Given the description of an element on the screen output the (x, y) to click on. 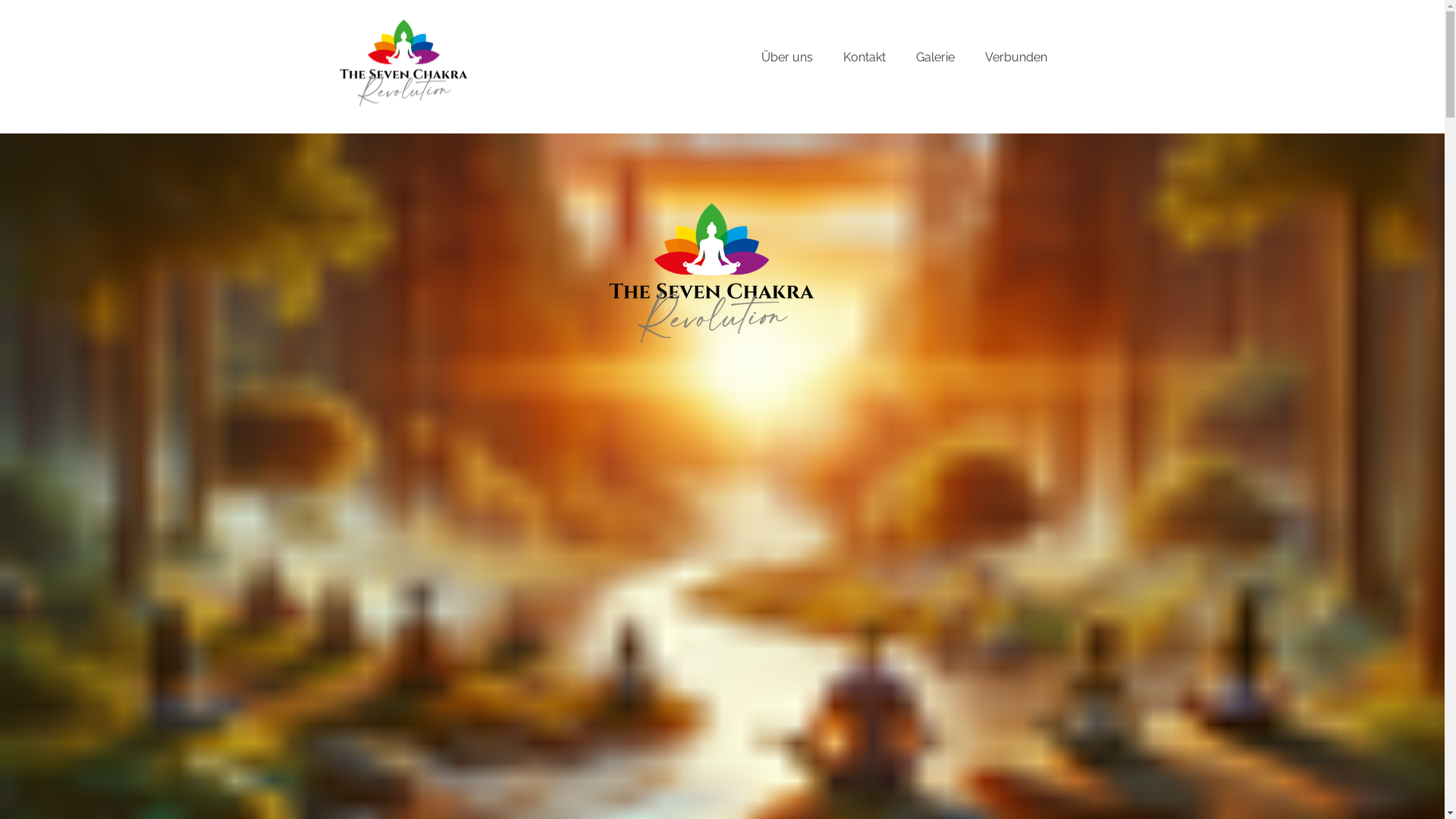
Kontakt Element type: text (864, 57)
Verbunden Element type: text (1015, 57)
Galerie Element type: text (934, 57)
